Given the description of an element on the screen output the (x, y) to click on. 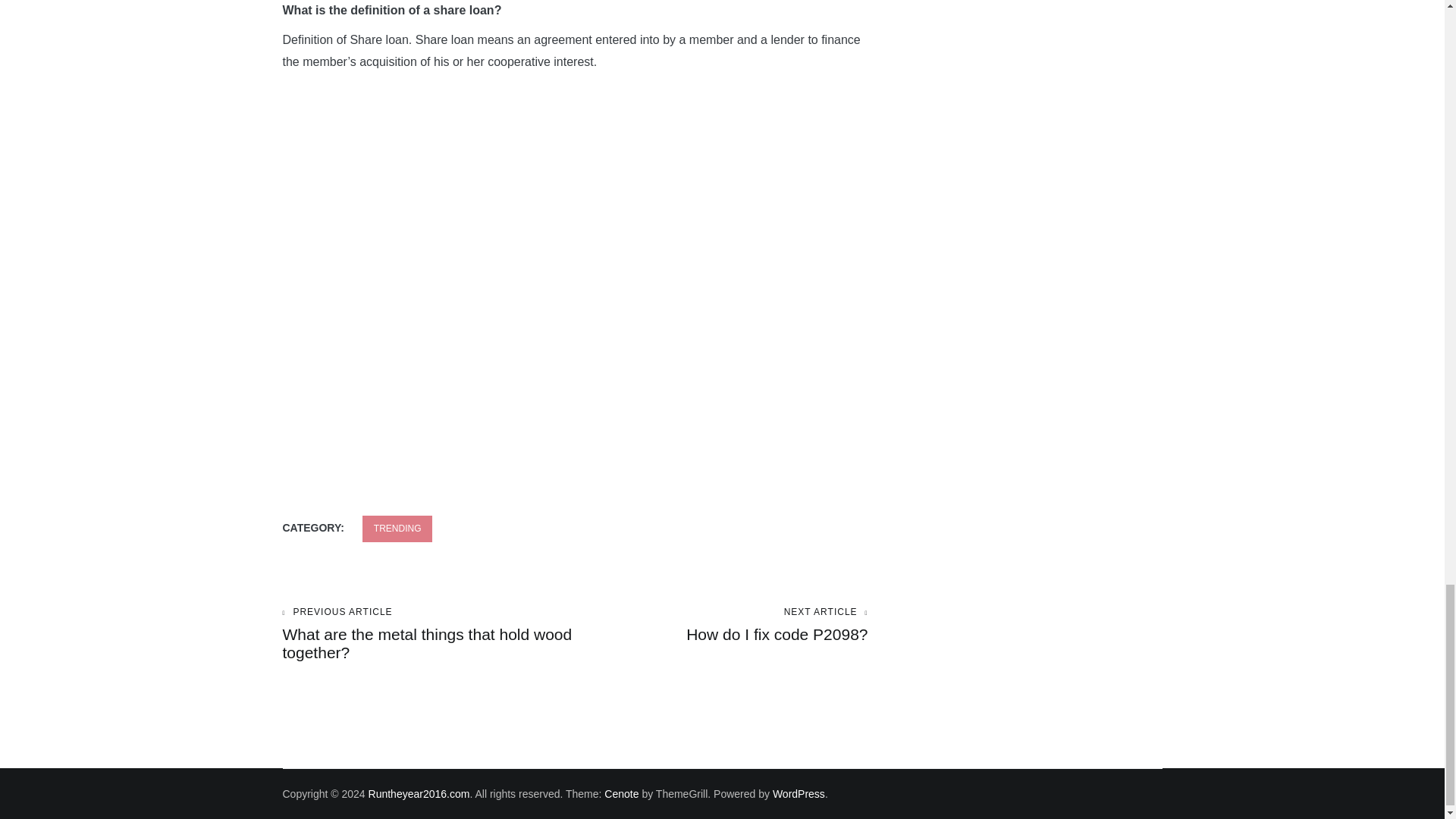
Cenote (721, 624)
Runtheyear2016.com (621, 793)
WordPress (419, 793)
TRENDING (799, 793)
Runtheyear2016.com (397, 528)
